Given the description of an element on the screen output the (x, y) to click on. 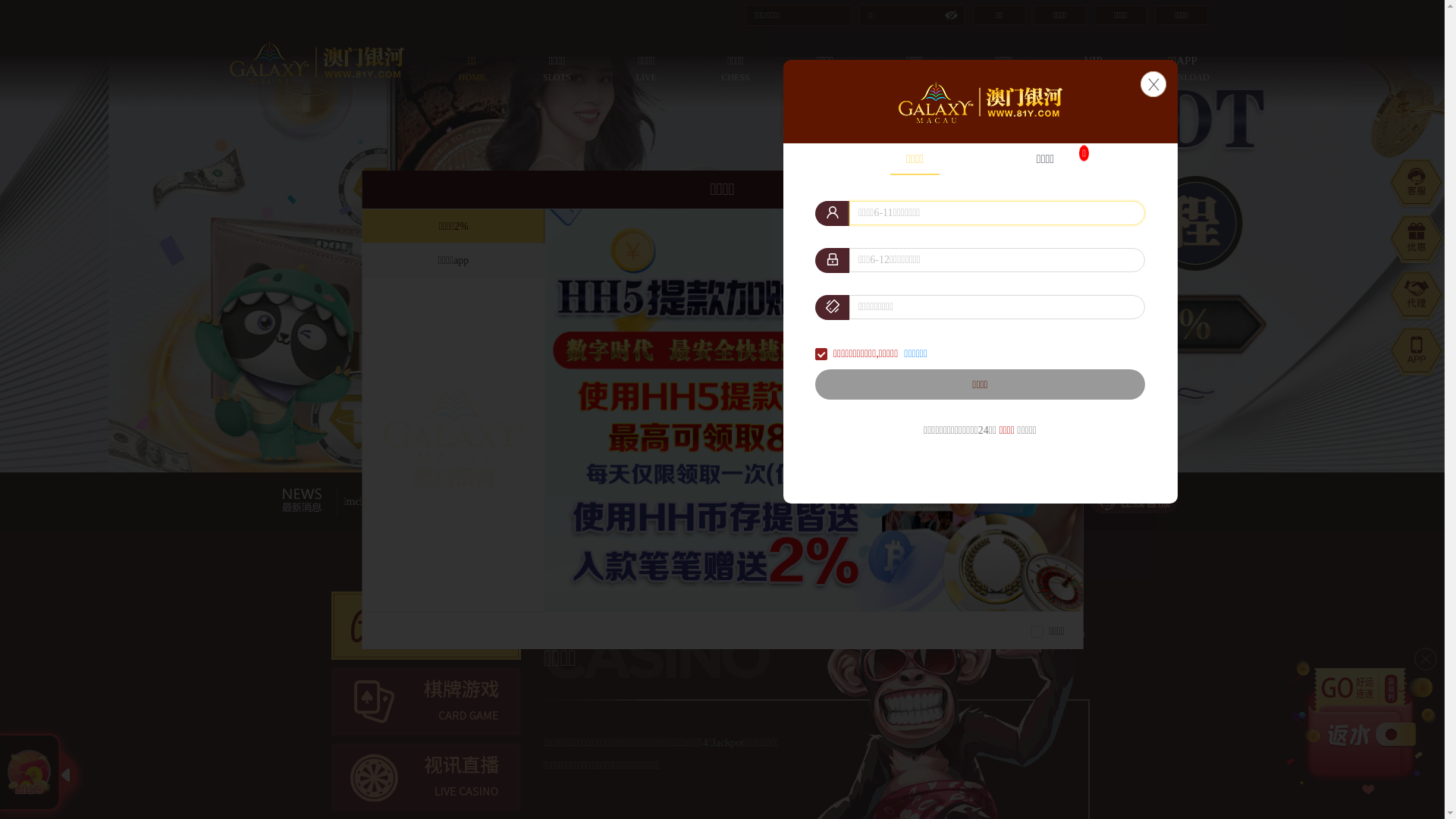
4 Element type: text (724, 440)
6 Element type: text (755, 440)
3 Element type: text (709, 440)
undefined Element type: hover (28, 772)
5 Element type: text (740, 440)
1 Element type: text (676, 440)
VIP
VIPLEVEL Element type: text (1093, 68)
2 Element type: text (694, 440)
7 Element type: text (770, 440)
